Given the description of an element on the screen output the (x, y) to click on. 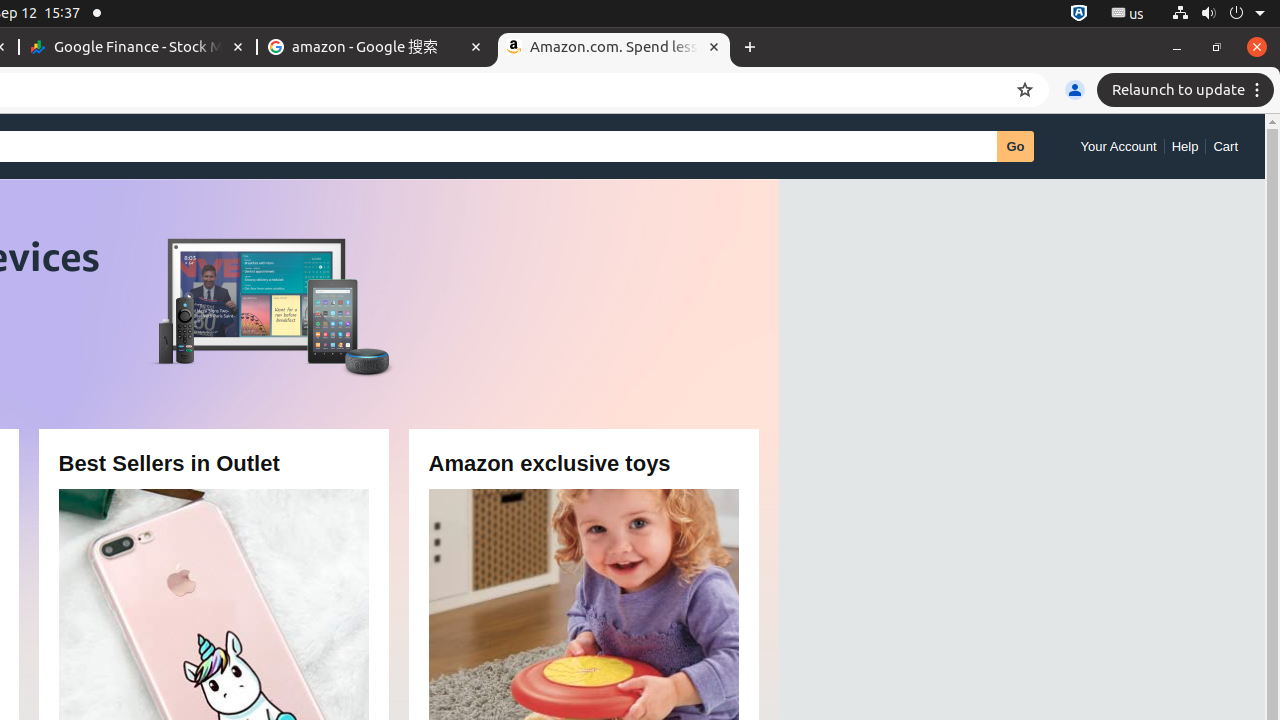
amazon - Google 搜索 - Memory usage - 96.2 MB Element type: page-tab (376, 47)
Amazon.com. Spend less. Smile more. Element type: page-tab (614, 47)
System Element type: menu (1218, 13)
:1.21/StatusNotifierItem Element type: menu (1127, 13)
You Element type: push-button (1075, 90)
